Given the description of an element on the screen output the (x, y) to click on. 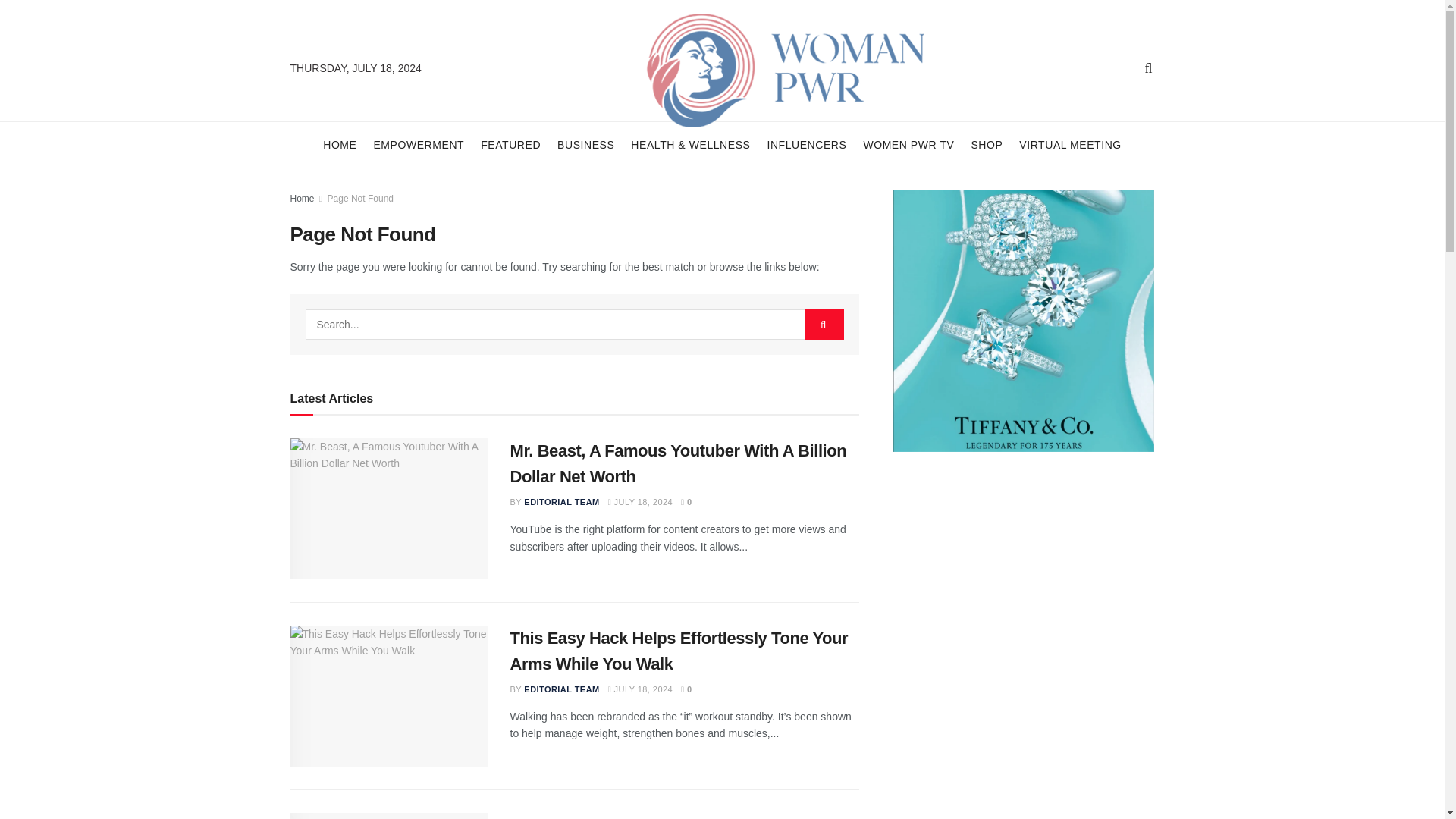
SHOP (987, 144)
EDITORIAL TEAM (561, 501)
FEATURED (510, 144)
Mr. Beast, A Famous Youtuber With A Billion Dollar Net Worth (677, 463)
INFLUENCERS (806, 144)
VIRTUAL MEETING (1070, 144)
JULY 18, 2024 (640, 501)
Home (301, 198)
EMPOWERMENT (418, 144)
0 (687, 501)
BUSINESS (585, 144)
Mr. Beast, A Famous Youtuber With A Billion Dollar Net Worth (387, 508)
Page Not Found (360, 198)
